Given the description of an element on the screen output the (x, y) to click on. 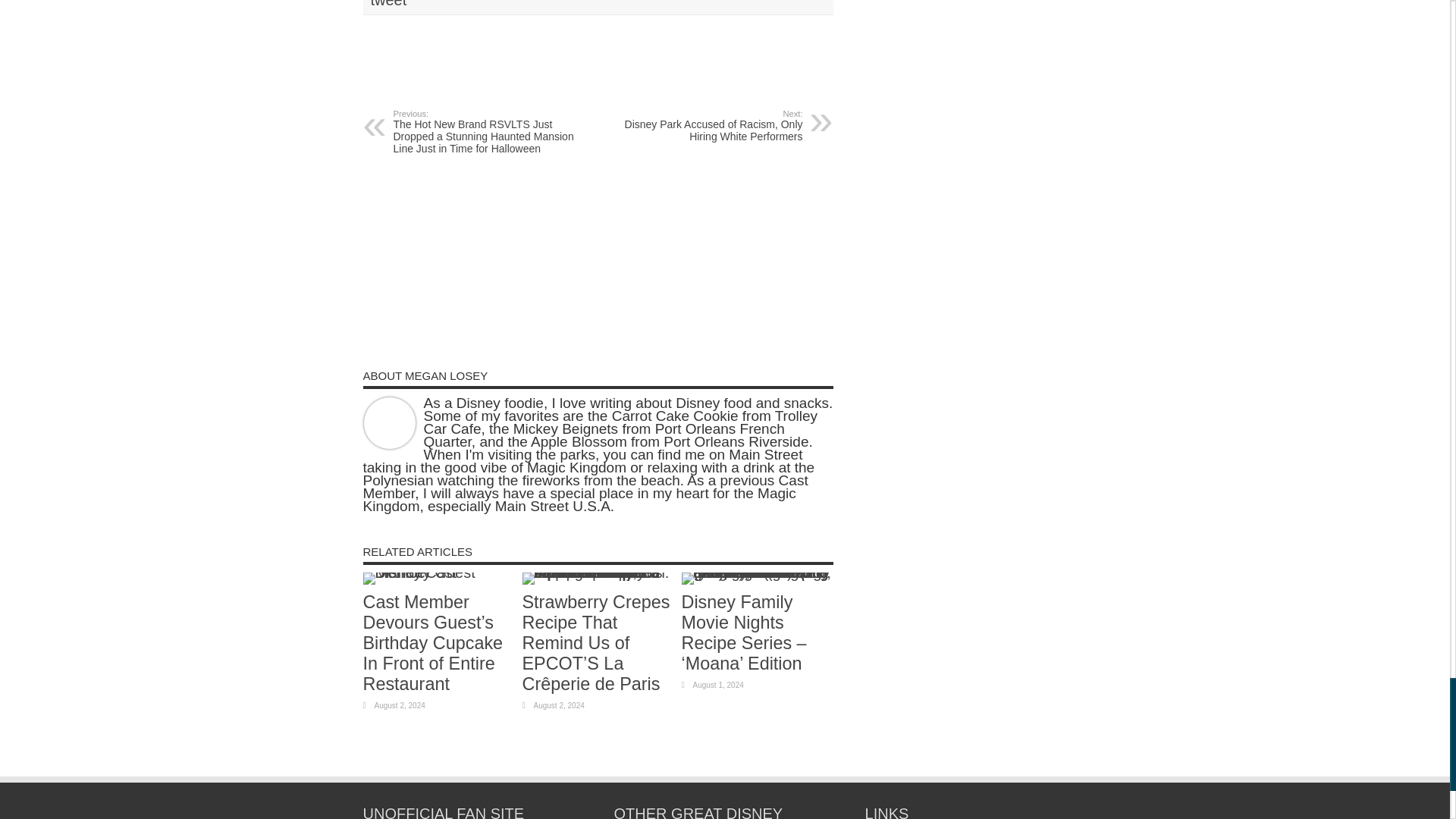
Pin It (563, 52)
tweet (387, 3)
